Given the description of an element on the screen output the (x, y) to click on. 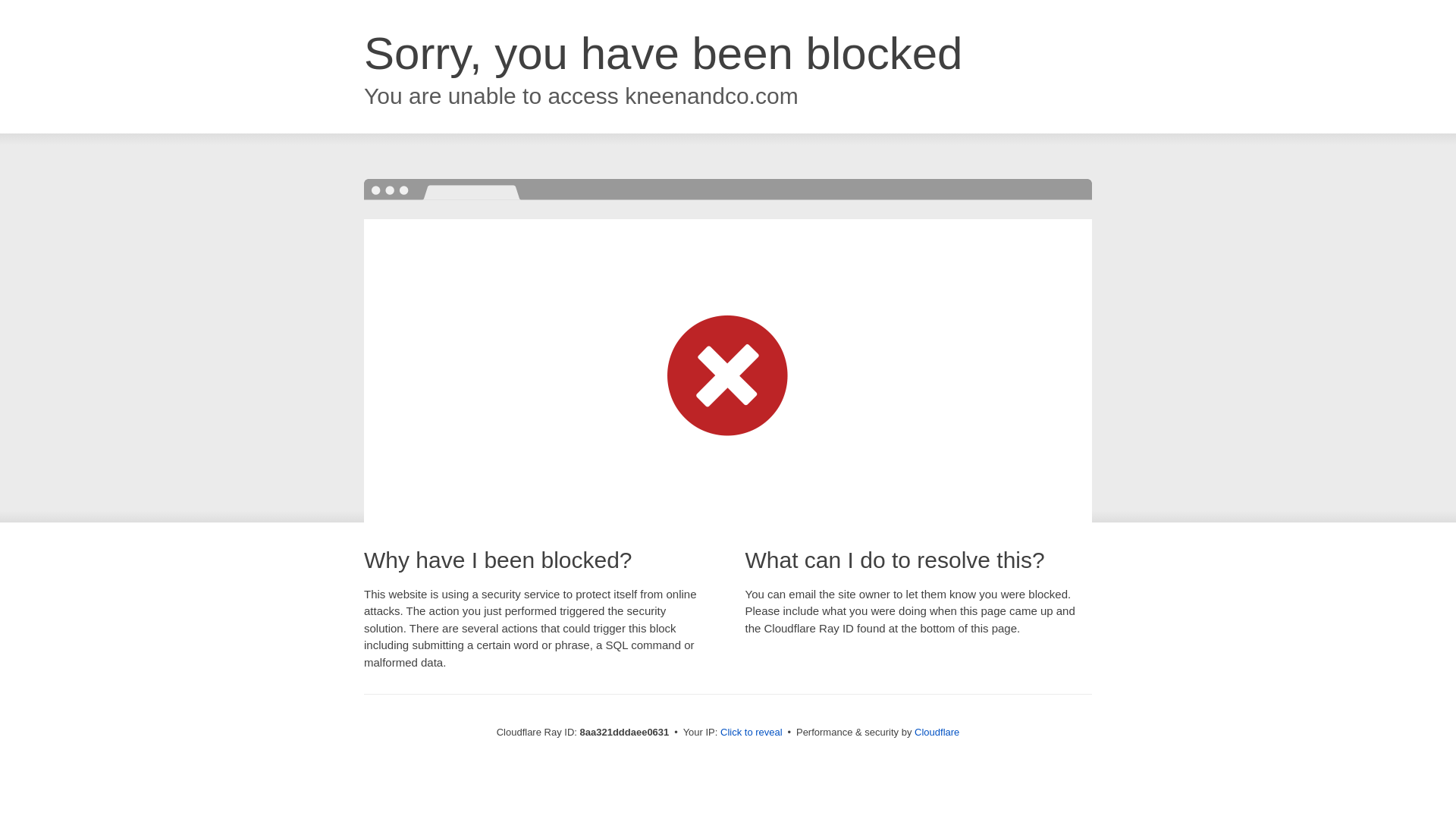
Click to reveal (751, 732)
Cloudflare (936, 731)
